Given the description of an element on the screen output the (x, y) to click on. 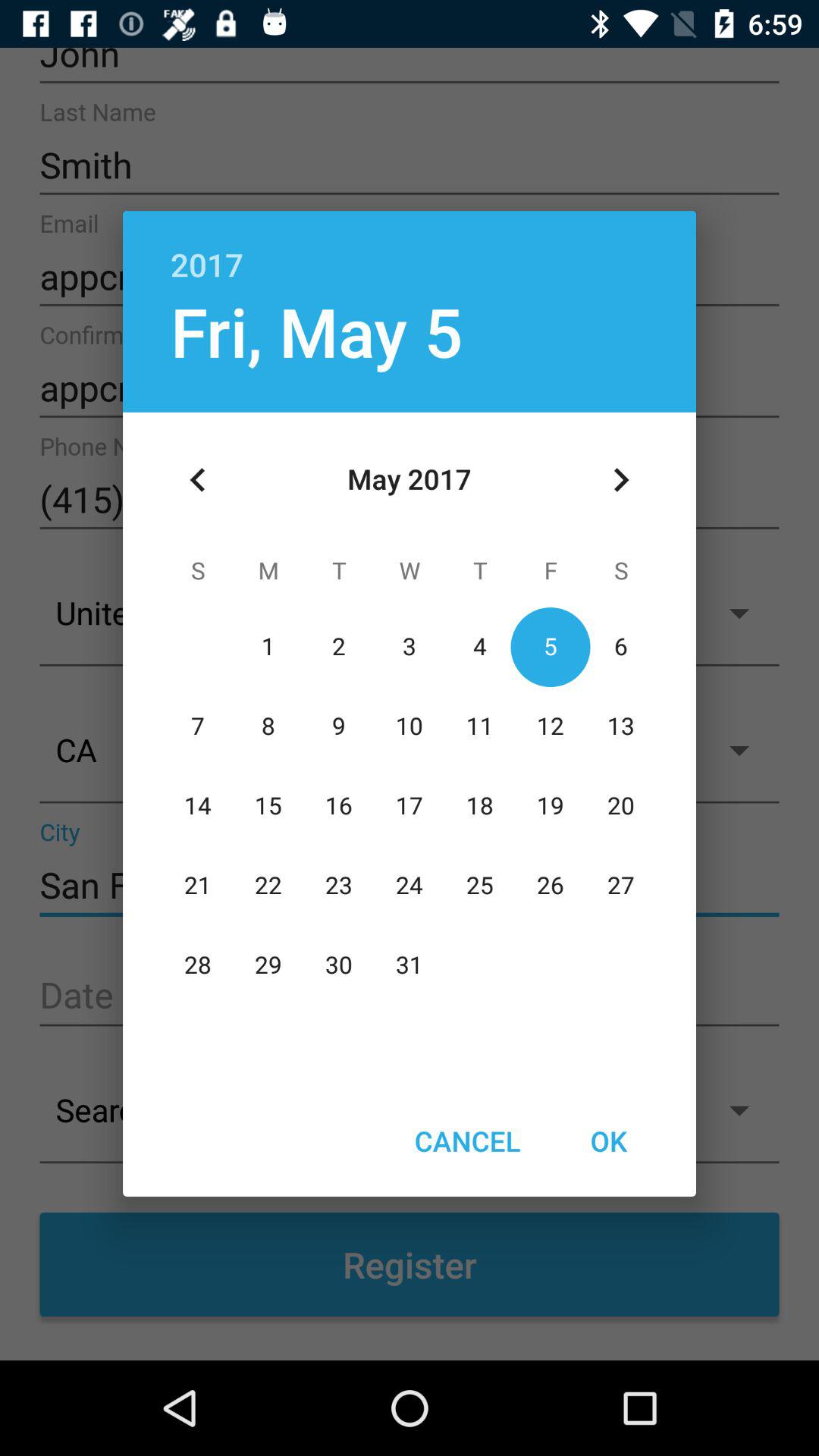
select item at the top right corner (620, 479)
